Given the description of an element on the screen output the (x, y) to click on. 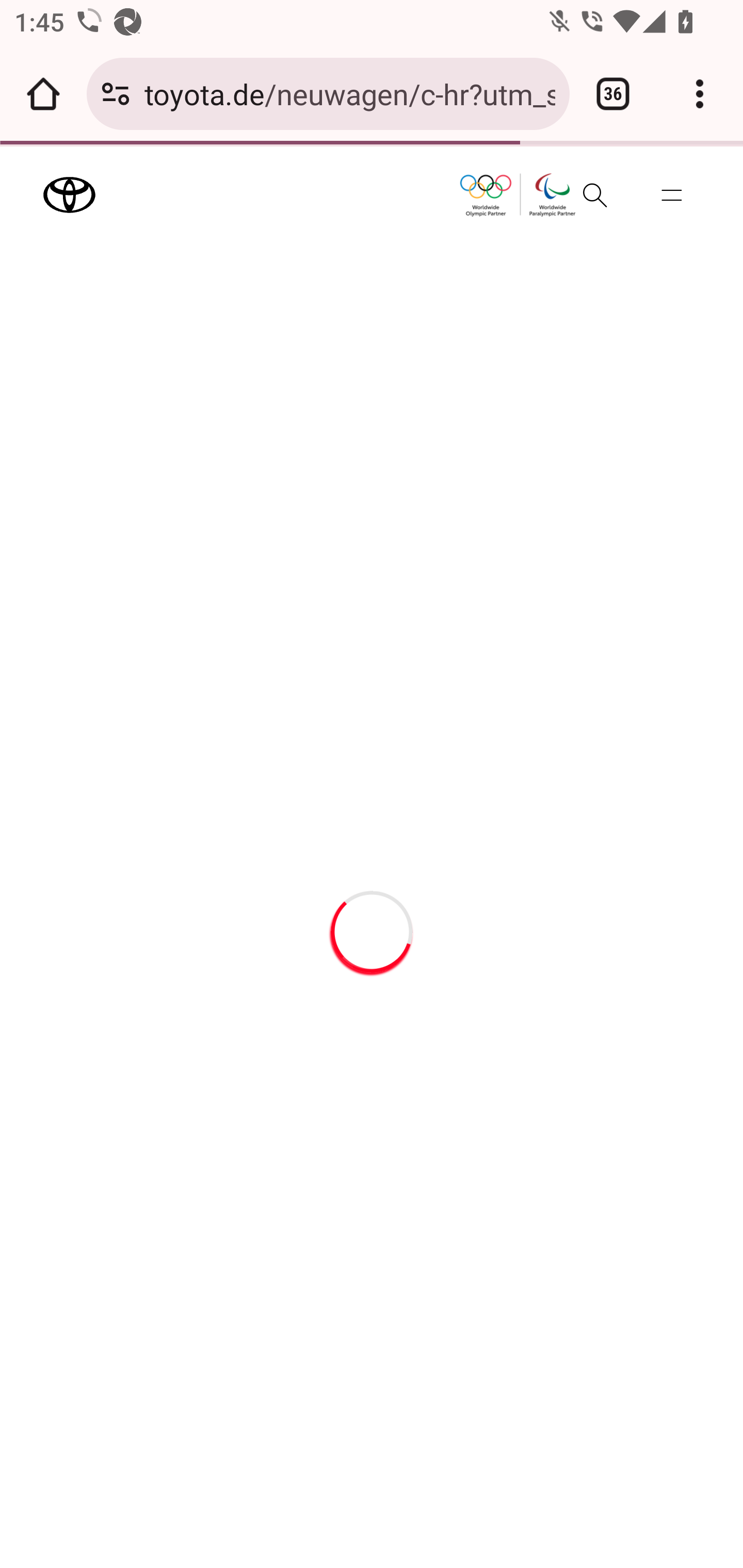
Open the home page (43, 93)
Connection is secure (115, 93)
Switch or close tabs (612, 93)
Customize and control Google Chrome (699, 93)
